Given the description of an element on the screen output the (x, y) to click on. 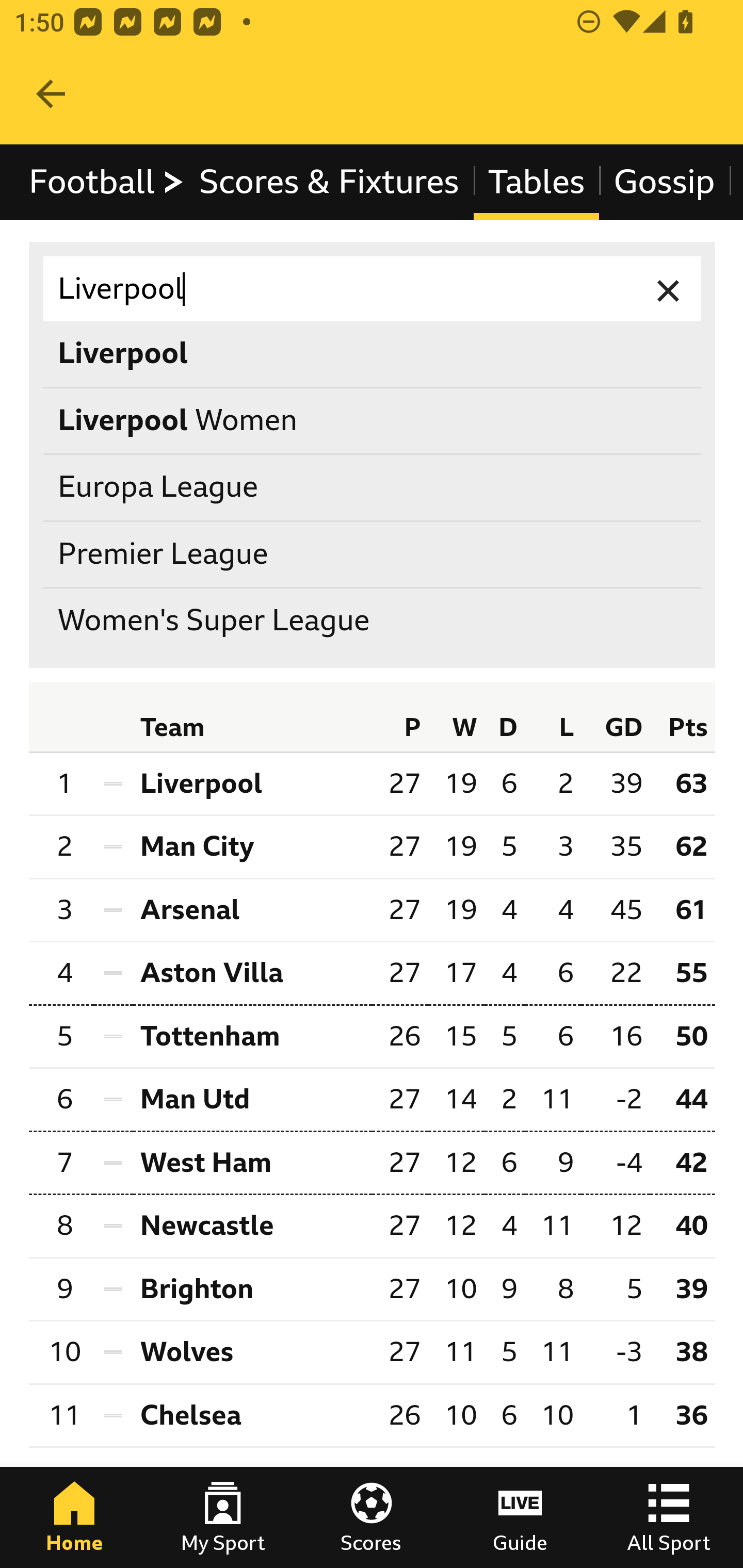
Navigate up (50, 93)
Football  (106, 181)
Scores & Fixtures (329, 181)
Tables (536, 181)
Gossip (664, 181)
Liverpool (372, 289)
Clear input (669, 289)
Liverpool Women Liverpool  Women (372, 419)
Europa League (372, 488)
Premier League (372, 554)
Women's Super League (372, 620)
Liverpool (252, 783)
Man City Manchester City (252, 847)
Arsenal (252, 910)
Aston Villa (252, 973)
Tottenham Tottenham Hotspur (252, 1035)
Man Utd Manchester United (252, 1099)
West Ham West Ham United (252, 1162)
Newcastle Newcastle United (252, 1224)
Brighton Brighton & Hove Albion (252, 1289)
Wolves Wolverhampton Wanderers (252, 1351)
Chelsea (252, 1415)
My Sport (222, 1517)
Scores (371, 1517)
Guide (519, 1517)
All Sport (668, 1517)
